Given the description of an element on the screen output the (x, y) to click on. 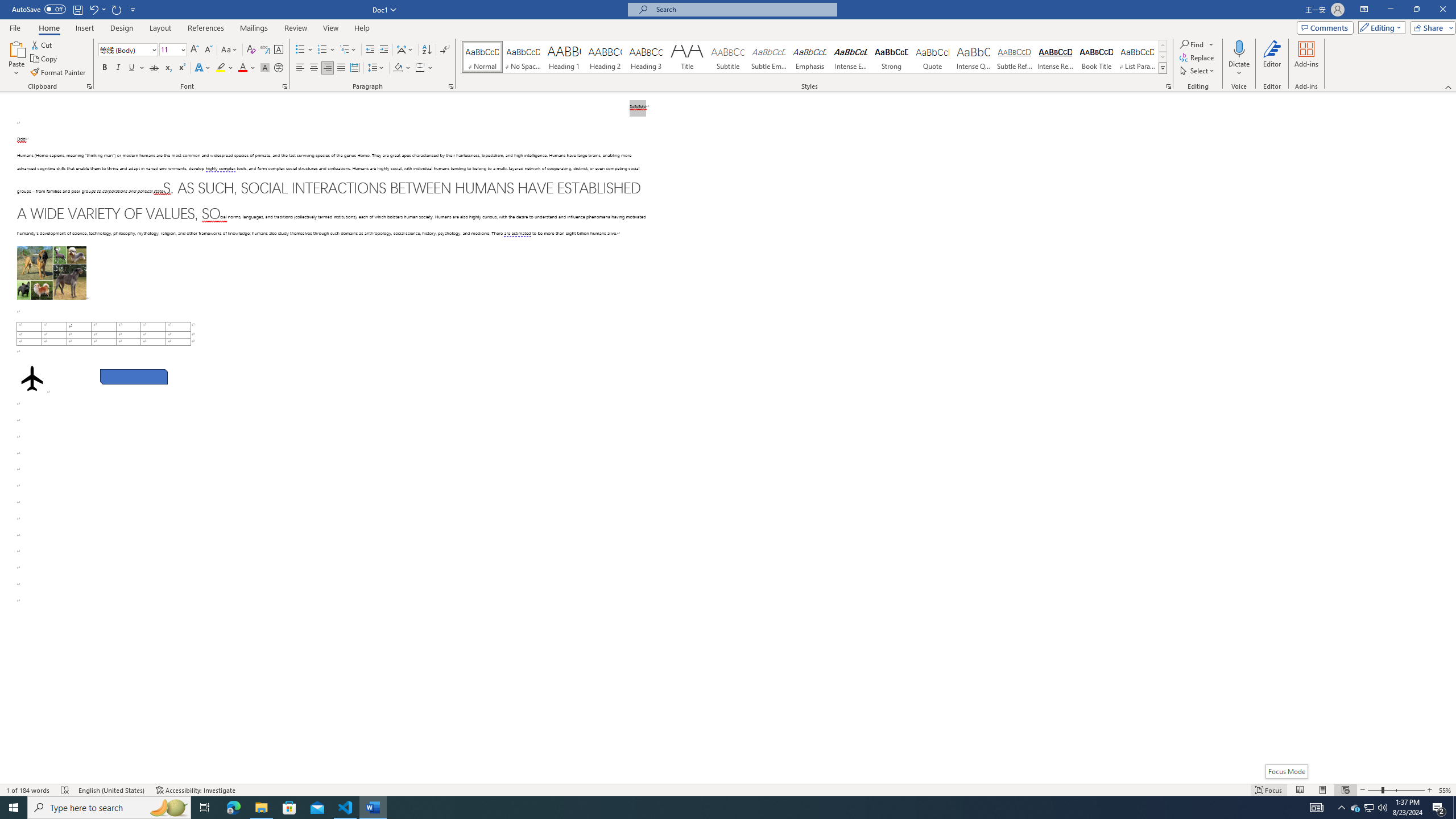
Intense Quote (973, 56)
